Given the description of an element on the screen output the (x, y) to click on. 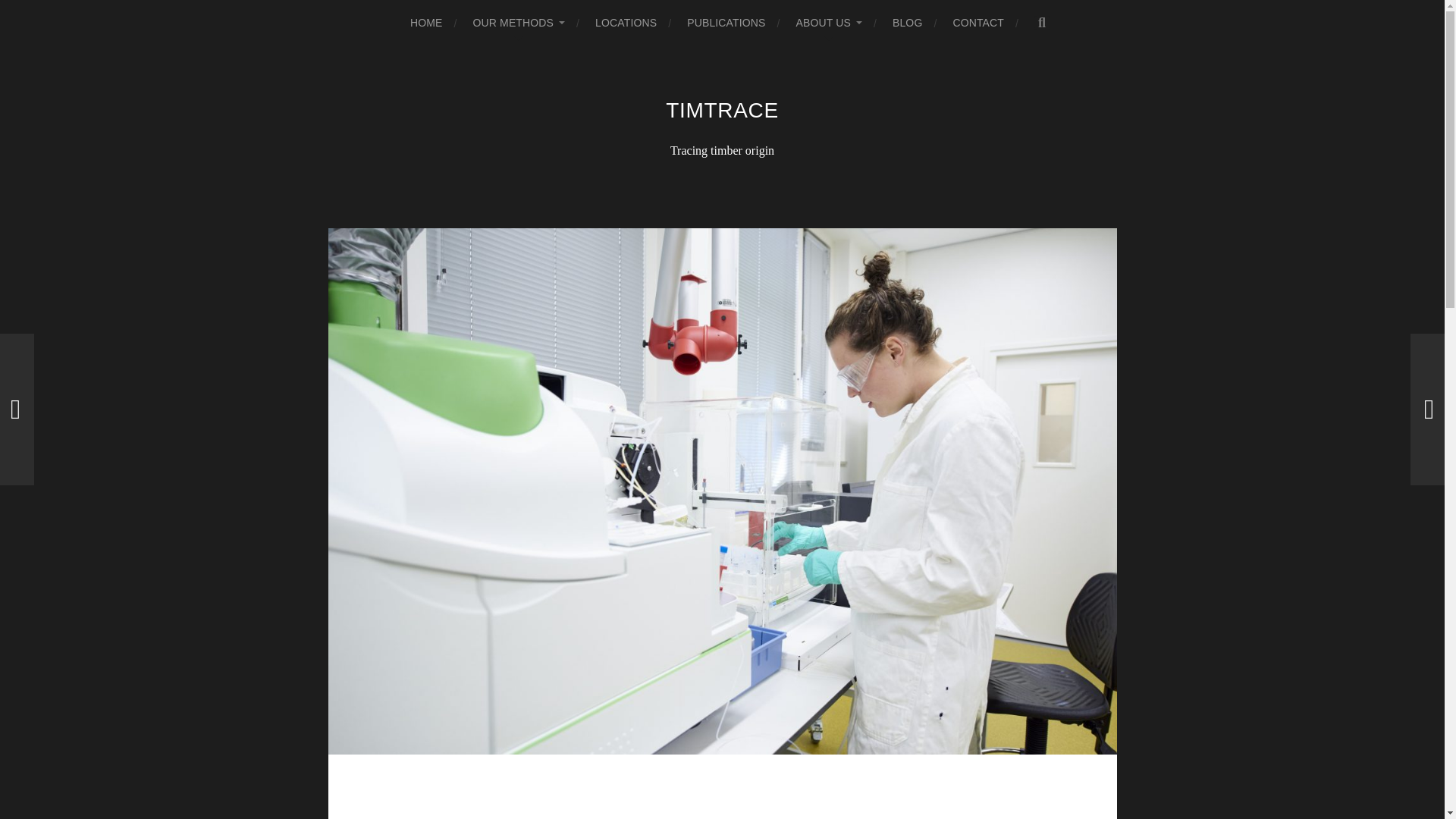
LOCATIONS (625, 22)
PUBLICATIONS (726, 22)
ABOUT US (828, 22)
TIMTRACE (721, 110)
CONTACT (978, 22)
OUR METHODS (519, 22)
